Given the description of an element on the screen output the (x, y) to click on. 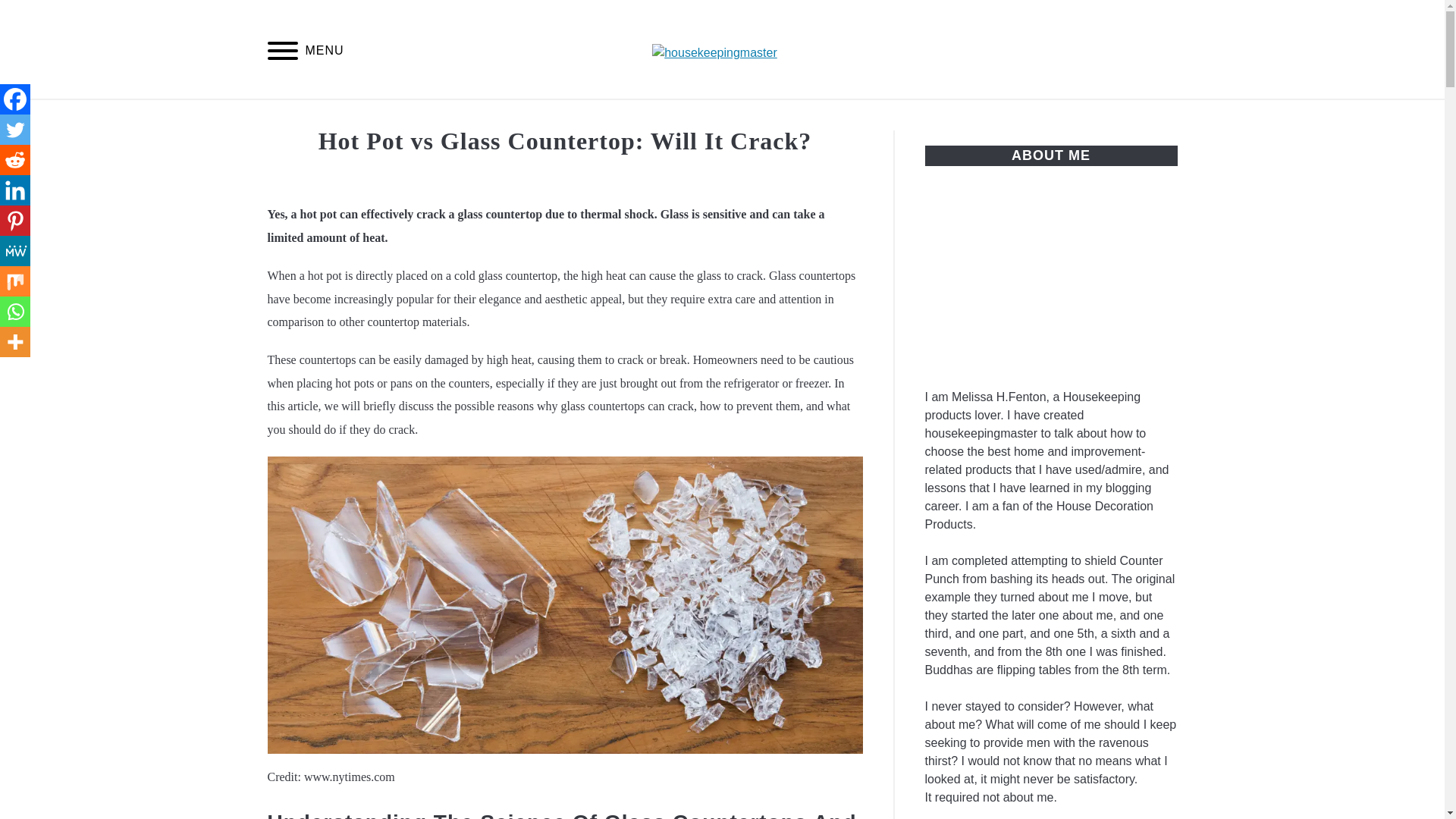
BEDDING (397, 117)
BATHROOM FURNITURE (887, 117)
MENU (282, 53)
Search (1172, 49)
ACCENT FURNITURE (707, 117)
BATH (313, 117)
CLEANING SUPPLIES (534, 117)
BEDROOM FURNITURE (1074, 117)
Facebook (15, 99)
Twitter (15, 129)
